Given the description of an element on the screen output the (x, y) to click on. 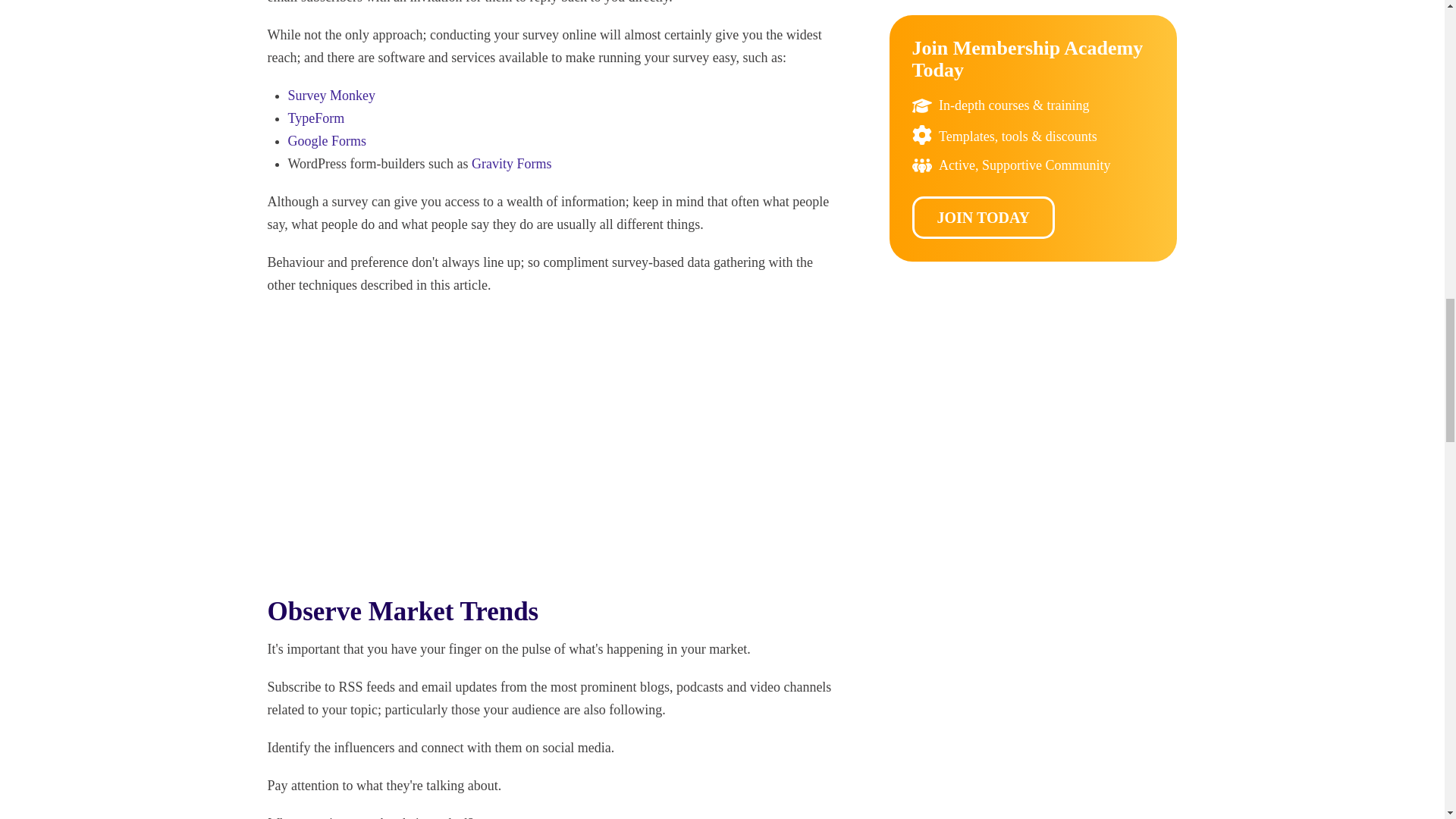
Google Forms (327, 140)
TypeForm (316, 118)
Gravity Forms (511, 163)
Survey Monkey (331, 95)
